Given the description of an element on the screen output the (x, y) to click on. 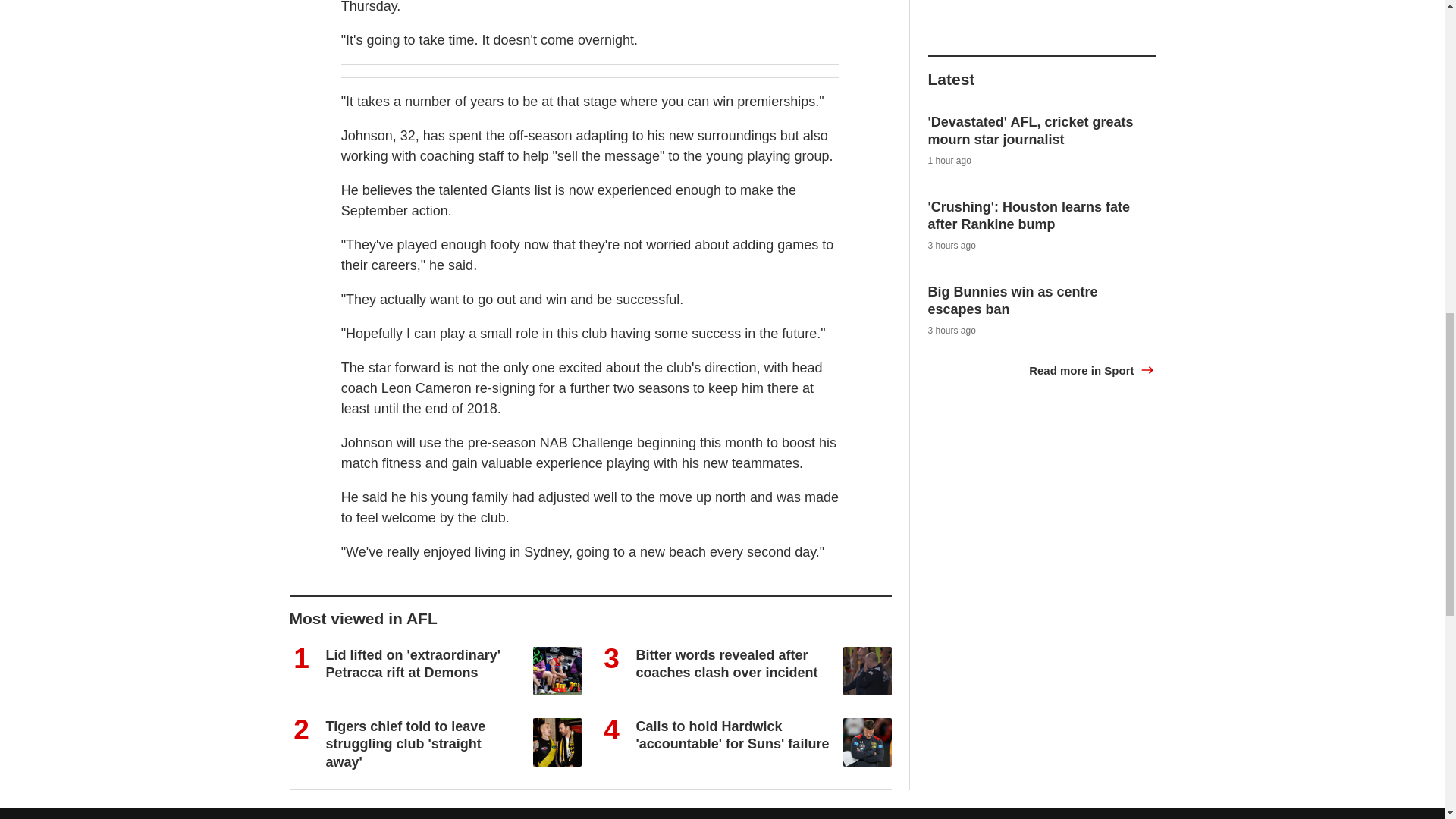
Tigers chief told to leave struggling club 'straight away' (406, 744)
Bitter words revealed after coaches clash over incident (725, 663)
Lid lifted on 'extraordinary' Petracca rift at Demons (413, 663)
Calls to hold Hardwick 'accountable' for Suns' failure (731, 735)
